Given the description of an element on the screen output the (x, y) to click on. 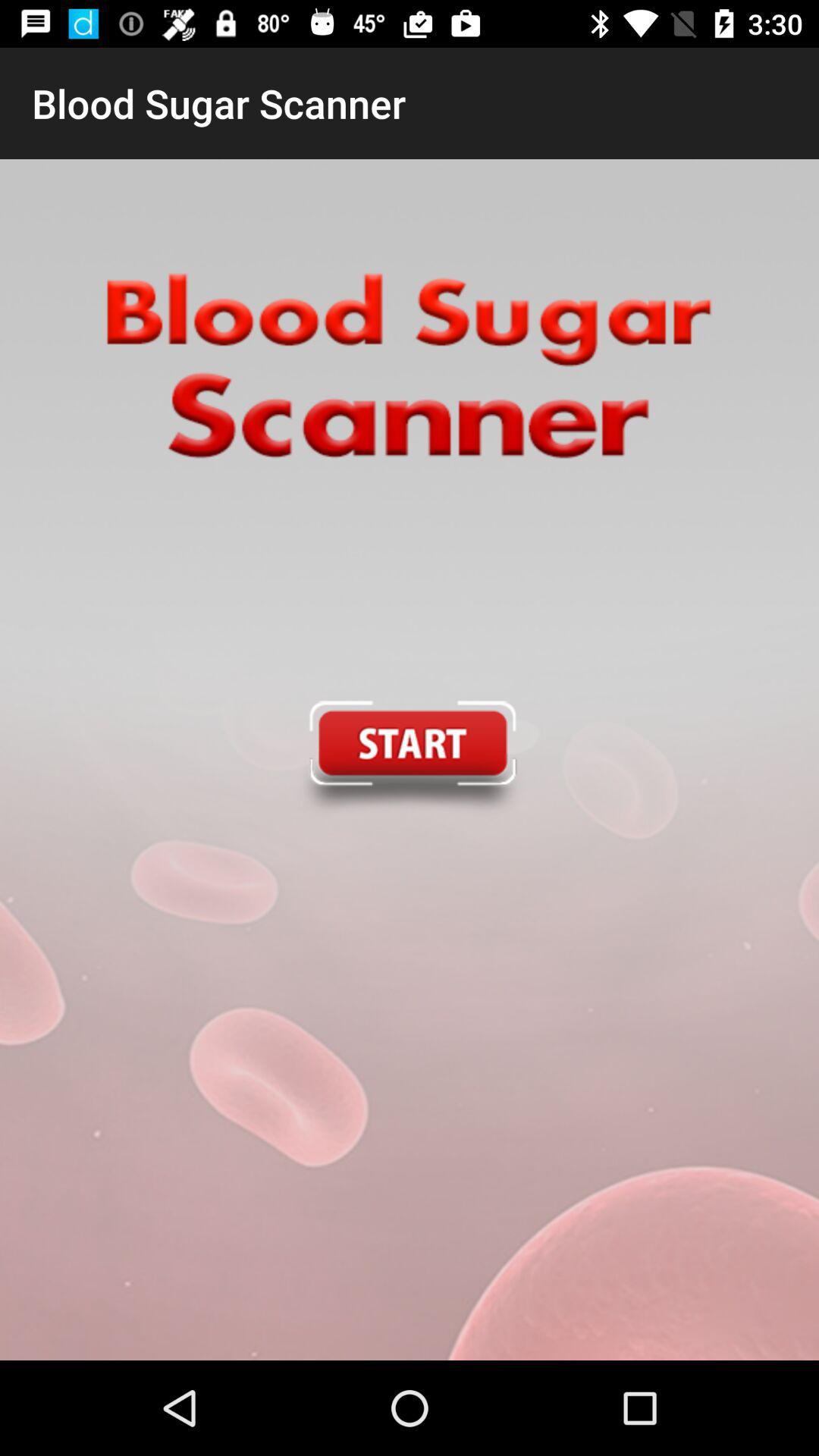
open button (409, 759)
